Given the description of an element on the screen output the (x, y) to click on. 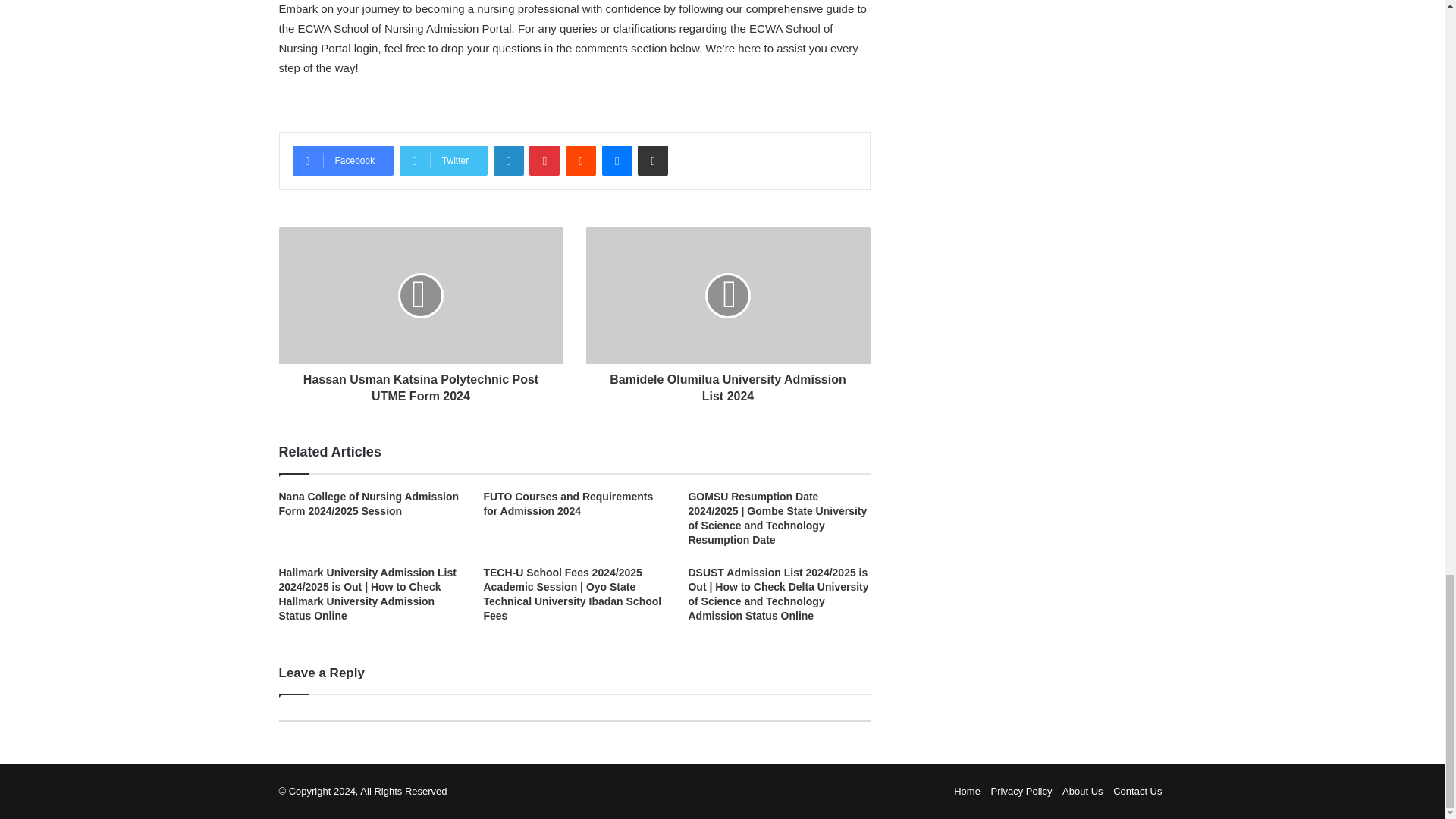
LinkedIn (508, 160)
Facebook (343, 160)
Reddit (580, 160)
Twitter (442, 160)
Messenger (616, 160)
Pinterest (544, 160)
